Given the description of an element on the screen output the (x, y) to click on. 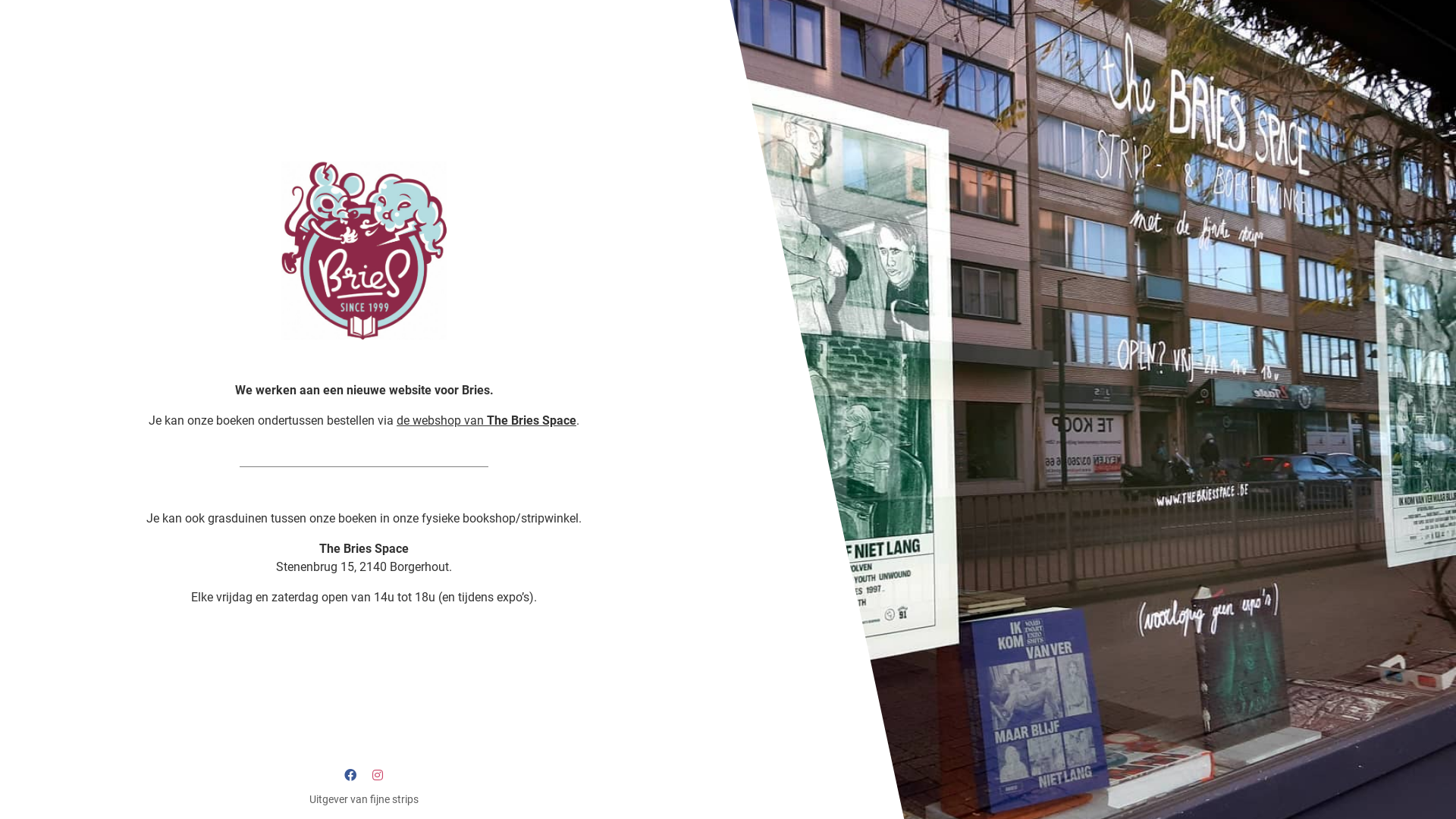
de webshop van The Bries Space Element type: text (486, 420)
